Given the description of an element on the screen output the (x, y) to click on. 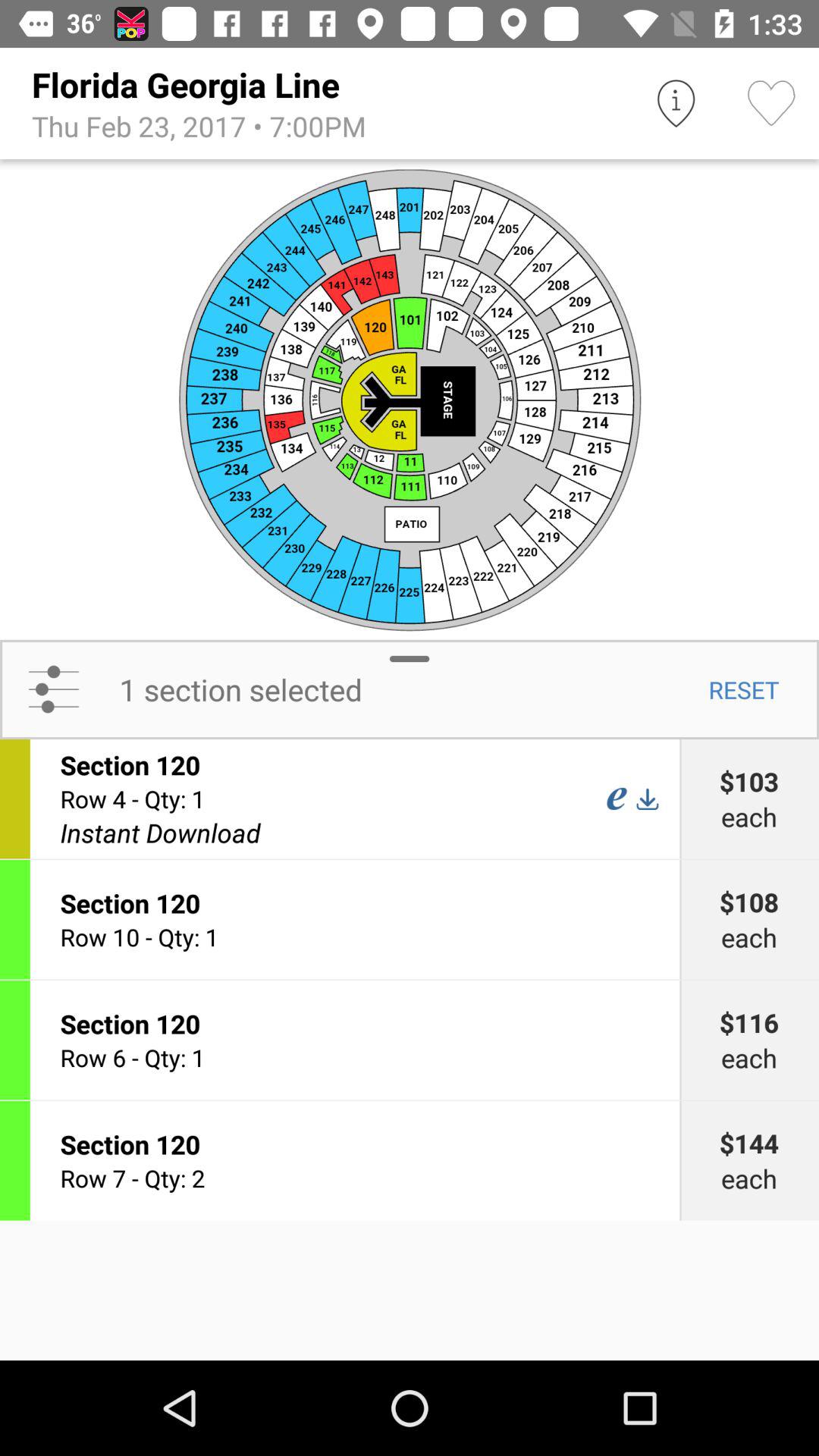
choose the reset (743, 689)
